Given the description of an element on the screen output the (x, y) to click on. 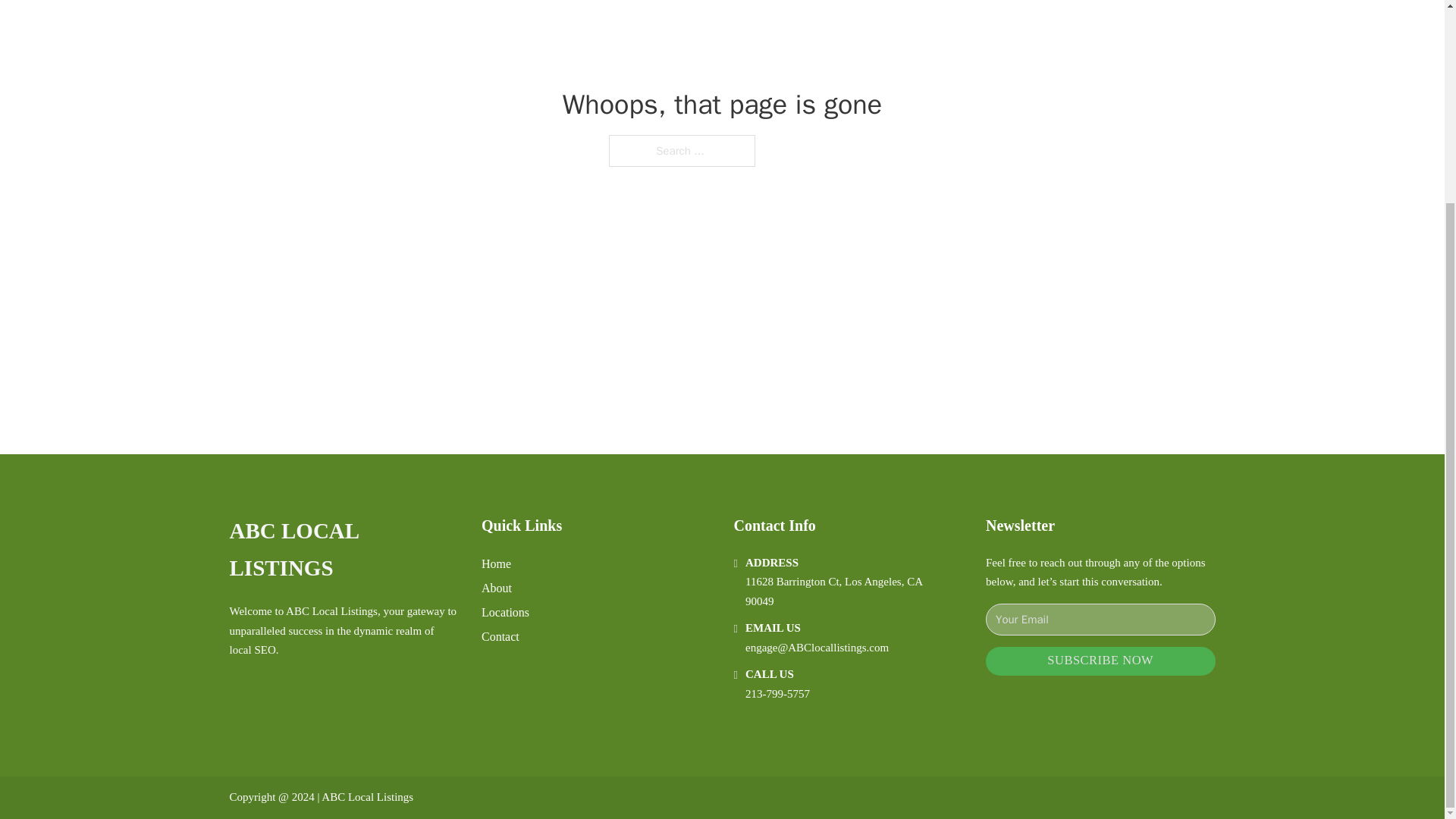
About (496, 588)
Home (496, 563)
Locations (505, 611)
213-799-5757 (777, 693)
ABC LOCAL LISTINGS (343, 550)
SUBSCRIBE NOW (1100, 661)
Contact (500, 636)
